Given the description of an element on the screen output the (x, y) to click on. 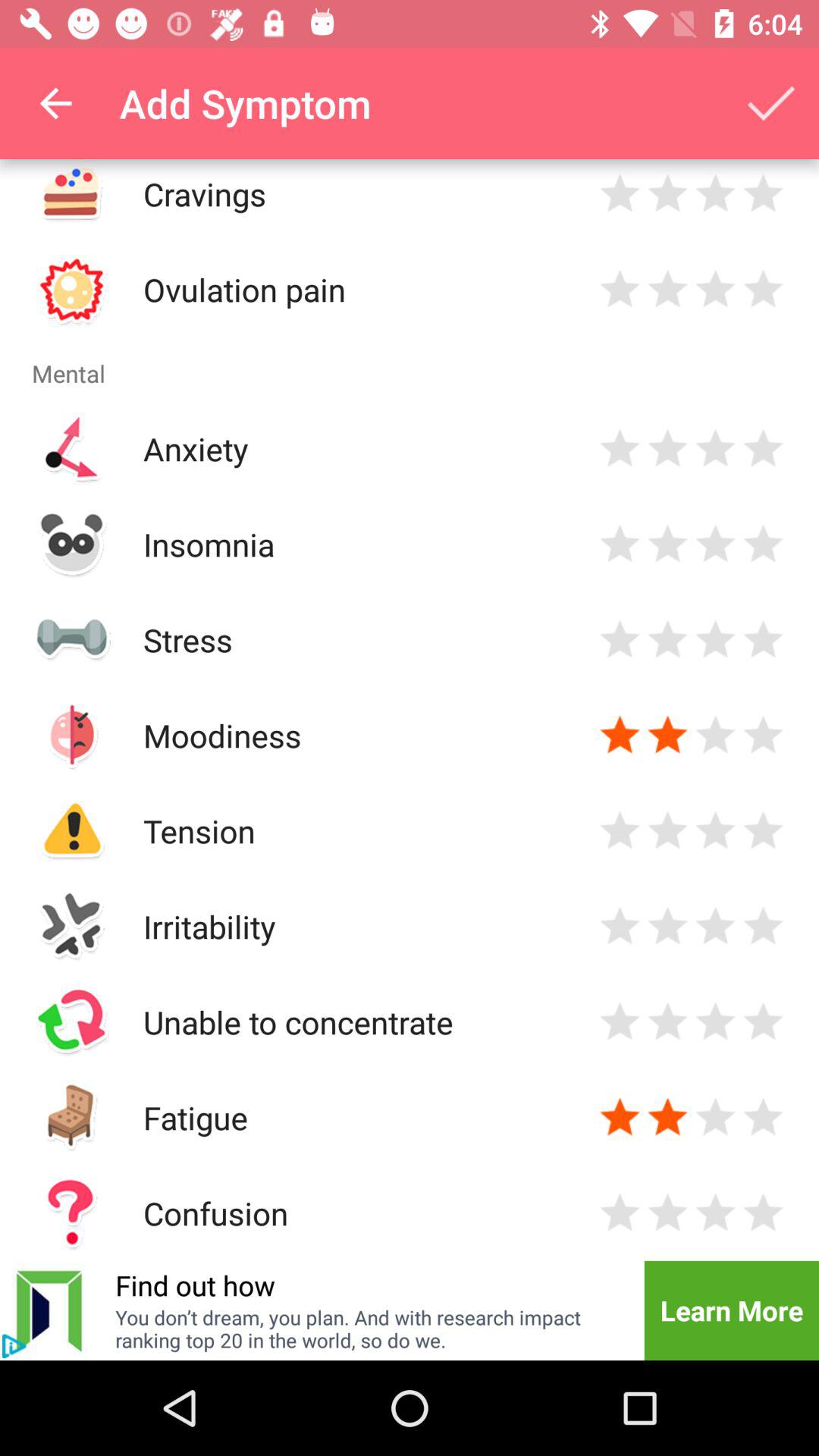
rate 3 stars (715, 1021)
